Given the description of an element on the screen output the (x, y) to click on. 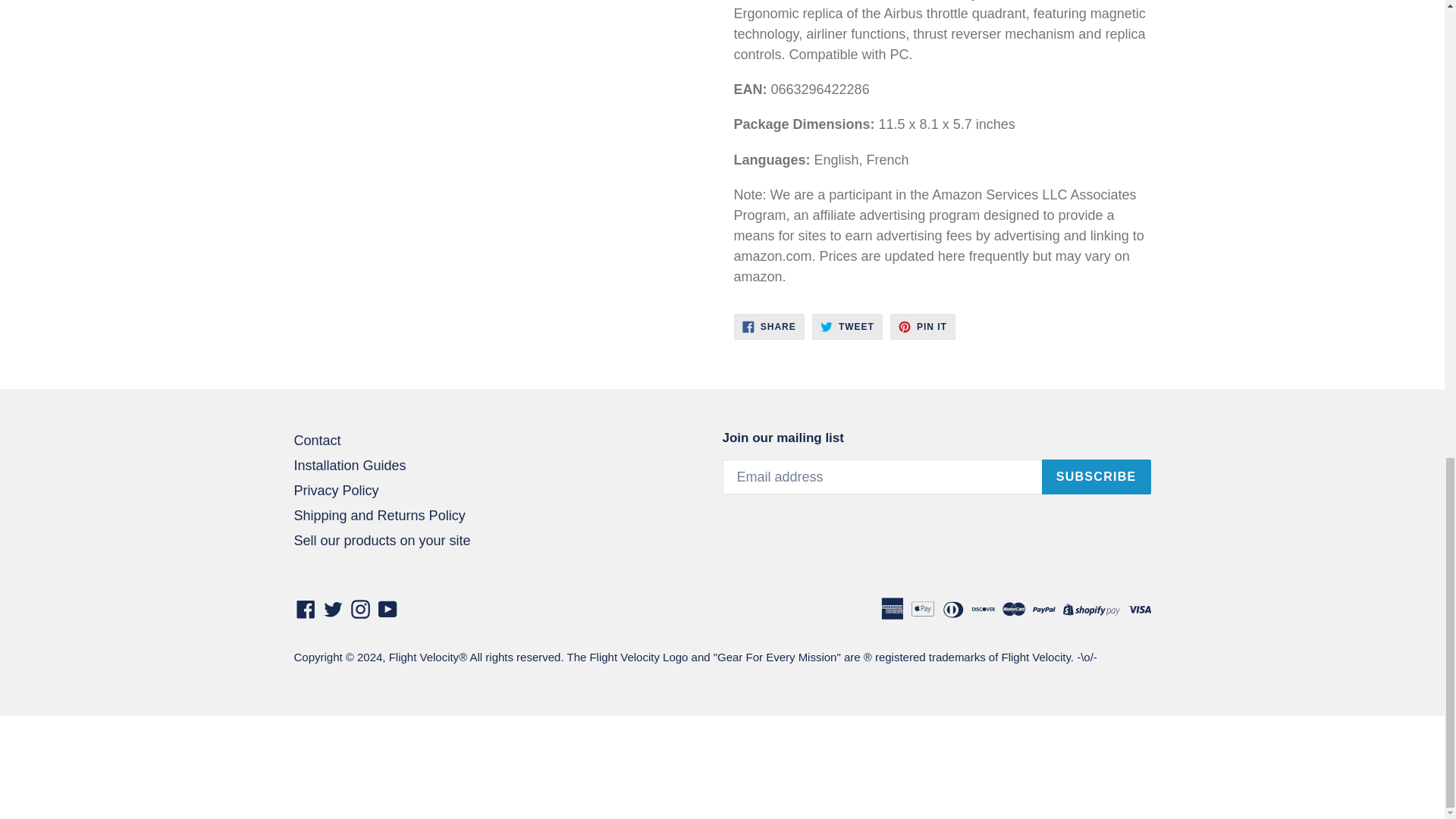
Privacy Policy (336, 490)
Tweet on Twitter (847, 326)
Flight Velocity on YouTube (386, 608)
Share on Facebook (769, 326)
Pin on Pinterest (769, 326)
Installation Guides (922, 326)
Flight Velocity on Twitter (350, 465)
Contact (333, 608)
